Given the description of an element on the screen output the (x, y) to click on. 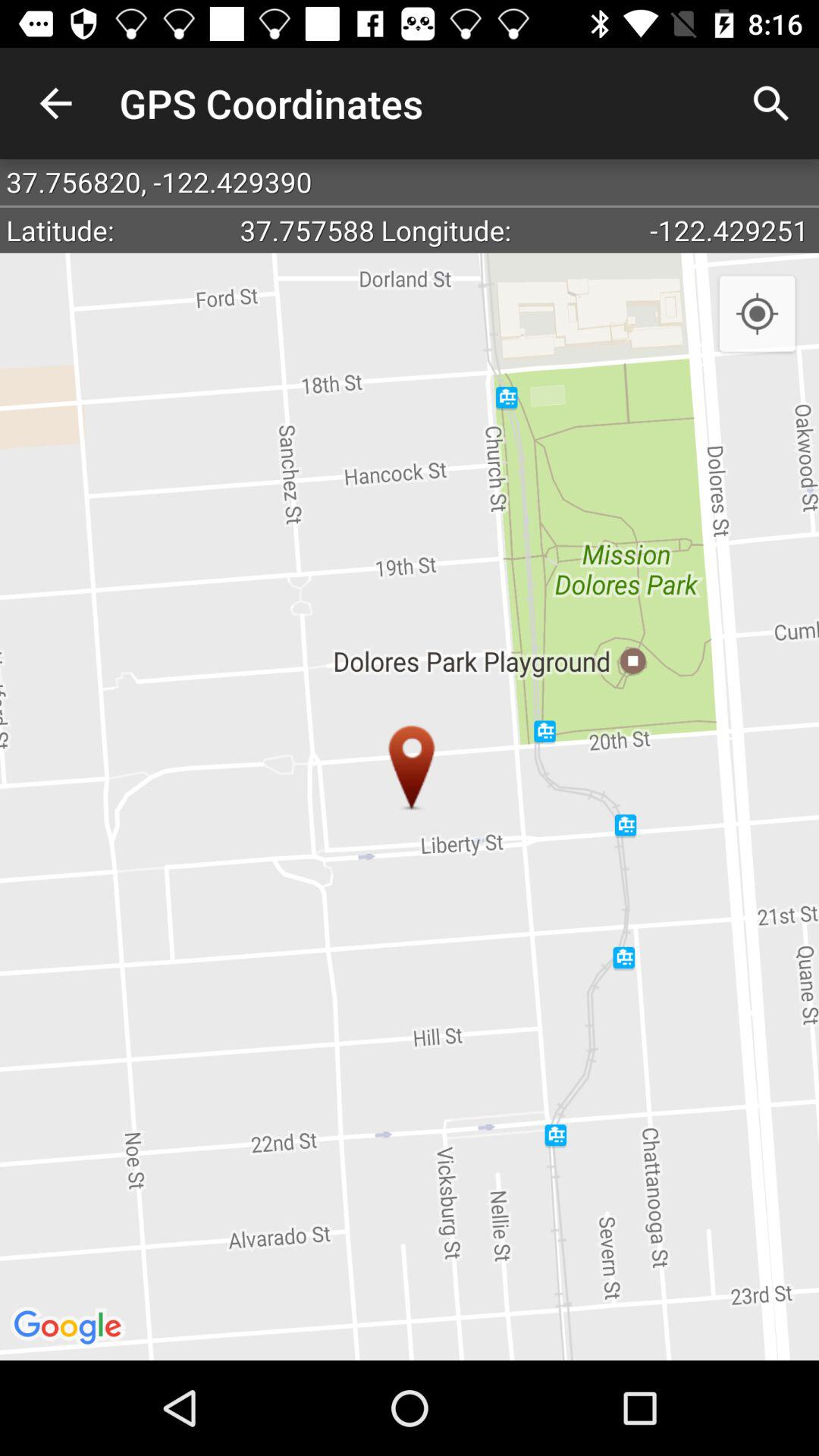
select item below -122.429251 icon (757, 314)
